Given the description of an element on the screen output the (x, y) to click on. 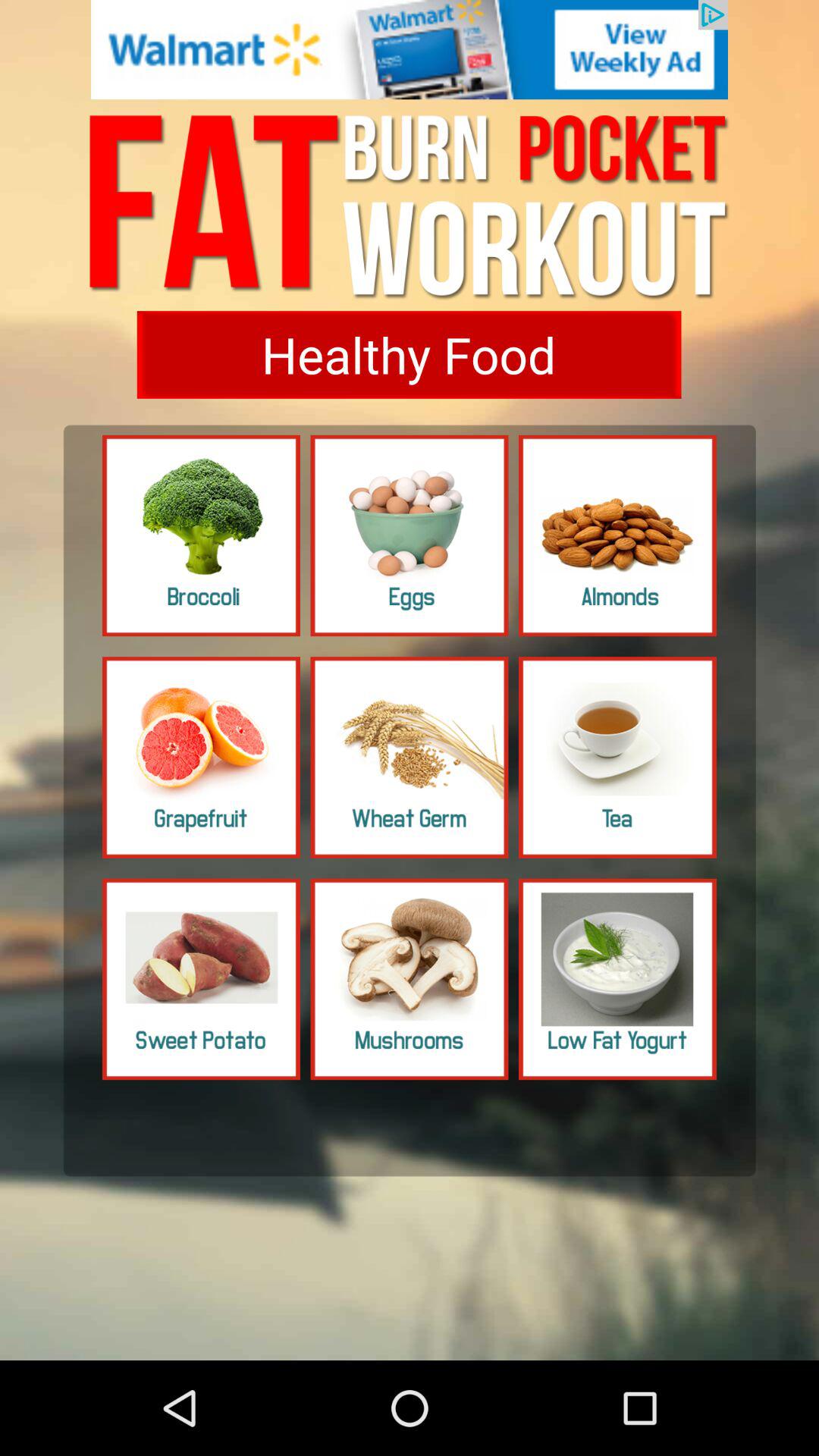
shows broccoli option (201, 535)
